Given the description of an element on the screen output the (x, y) to click on. 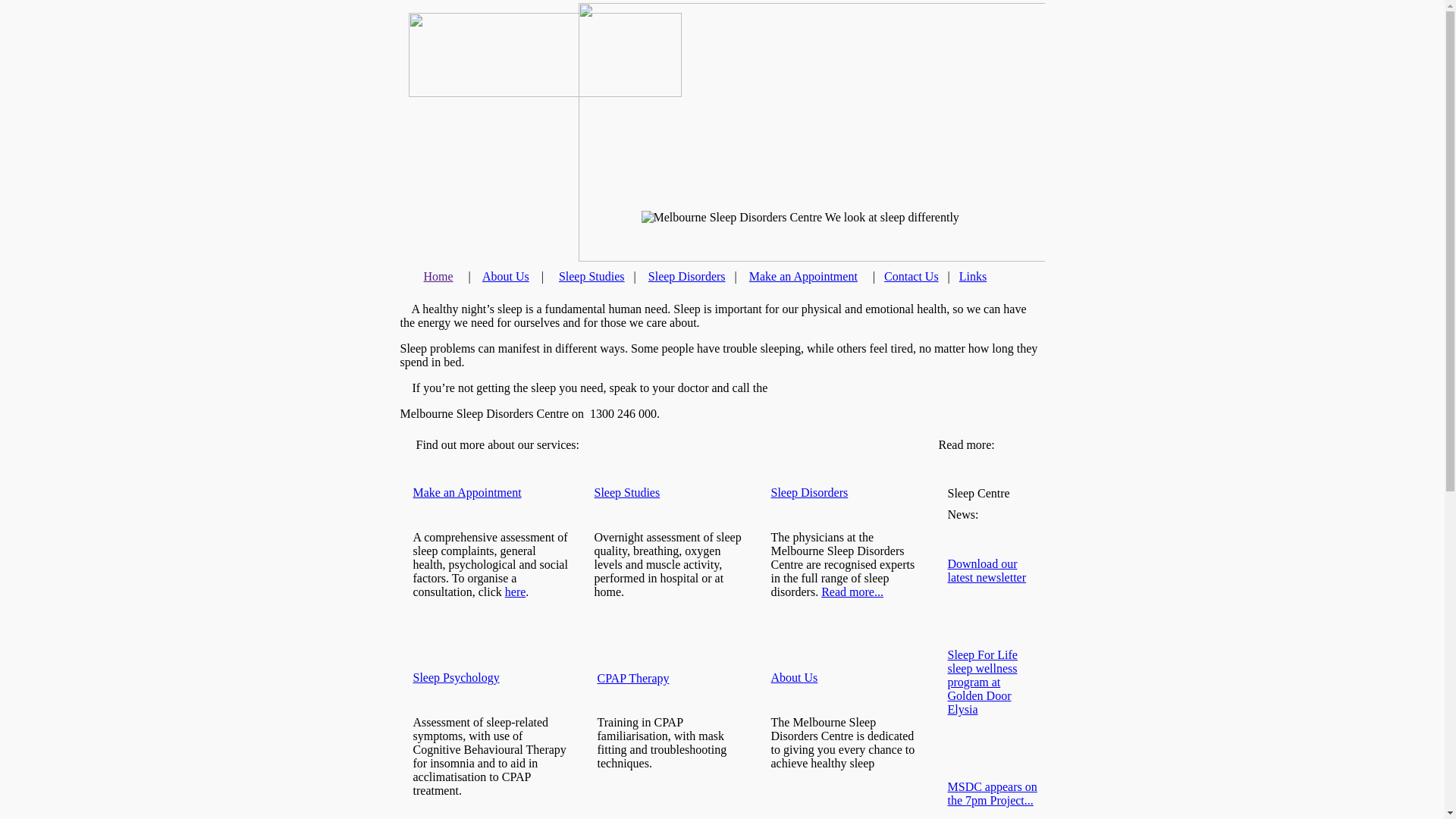
Make an Appointment Element type: text (803, 275)
Make an Appointment Element type: text (466, 492)
here Element type: text (515, 591)
Sleep For Life sleep wellness program at Golden Door Elysia Element type: text (982, 681)
Sleep Disorders Element type: text (686, 275)
Sleep Studies Element type: text (591, 275)
Contact Us Element type: text (911, 275)
Read more... Element type: text (852, 591)
Download our latest newsletter Element type: text (986, 570)
Sleep Studies Element type: text (627, 492)
About Us Element type: text (505, 275)
CPAP Therapy Element type: text (633, 677)
Sleep Psychology Element type: text (455, 677)
Home Element type: text (437, 275)
About Us Element type: text (793, 677)
MSDC appears on the 7pm Project... Element type: text (992, 793)
Sleep Disorders Element type: text (808, 492)
Links Element type: text (972, 275)
